Given the description of an element on the screen output the (x, y) to click on. 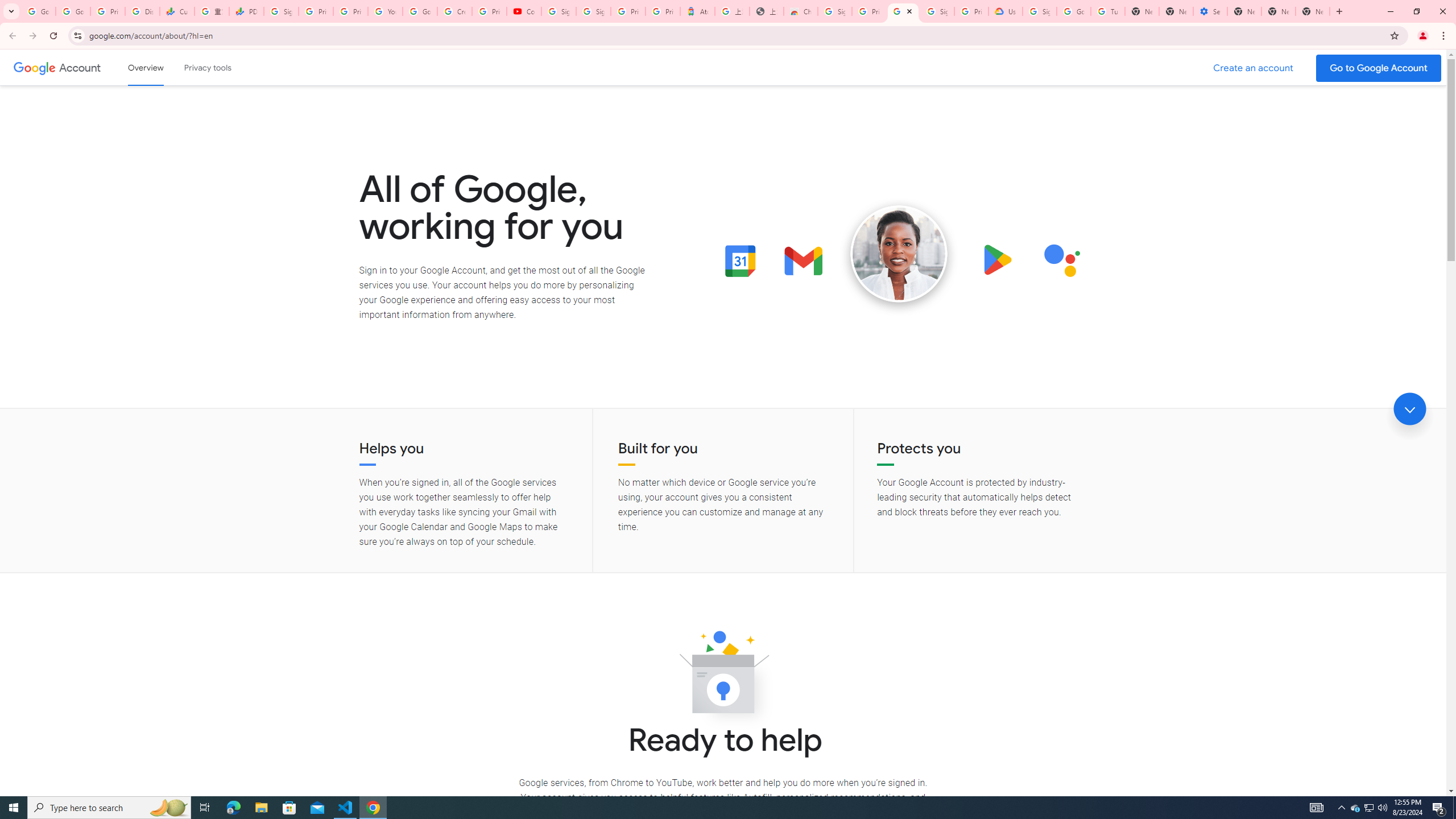
YouTube (384, 11)
Google Account overview (145, 67)
